Given the description of an element on the screen output the (x, y) to click on. 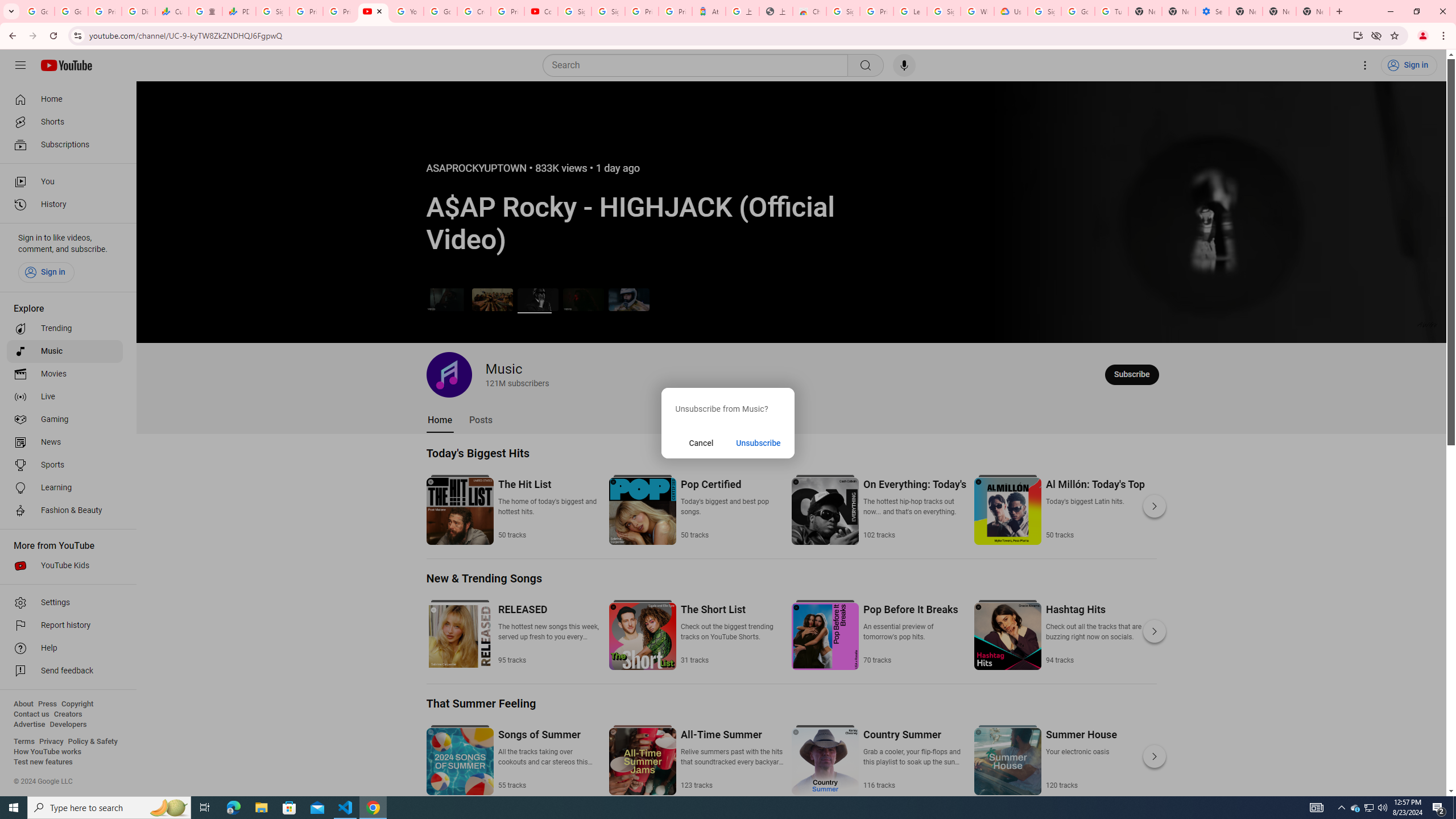
The Music Channel - YouTube (372, 11)
Send feedback (64, 671)
Trending (64, 328)
Press (46, 703)
